Given the description of an element on the screen output the (x, y) to click on. 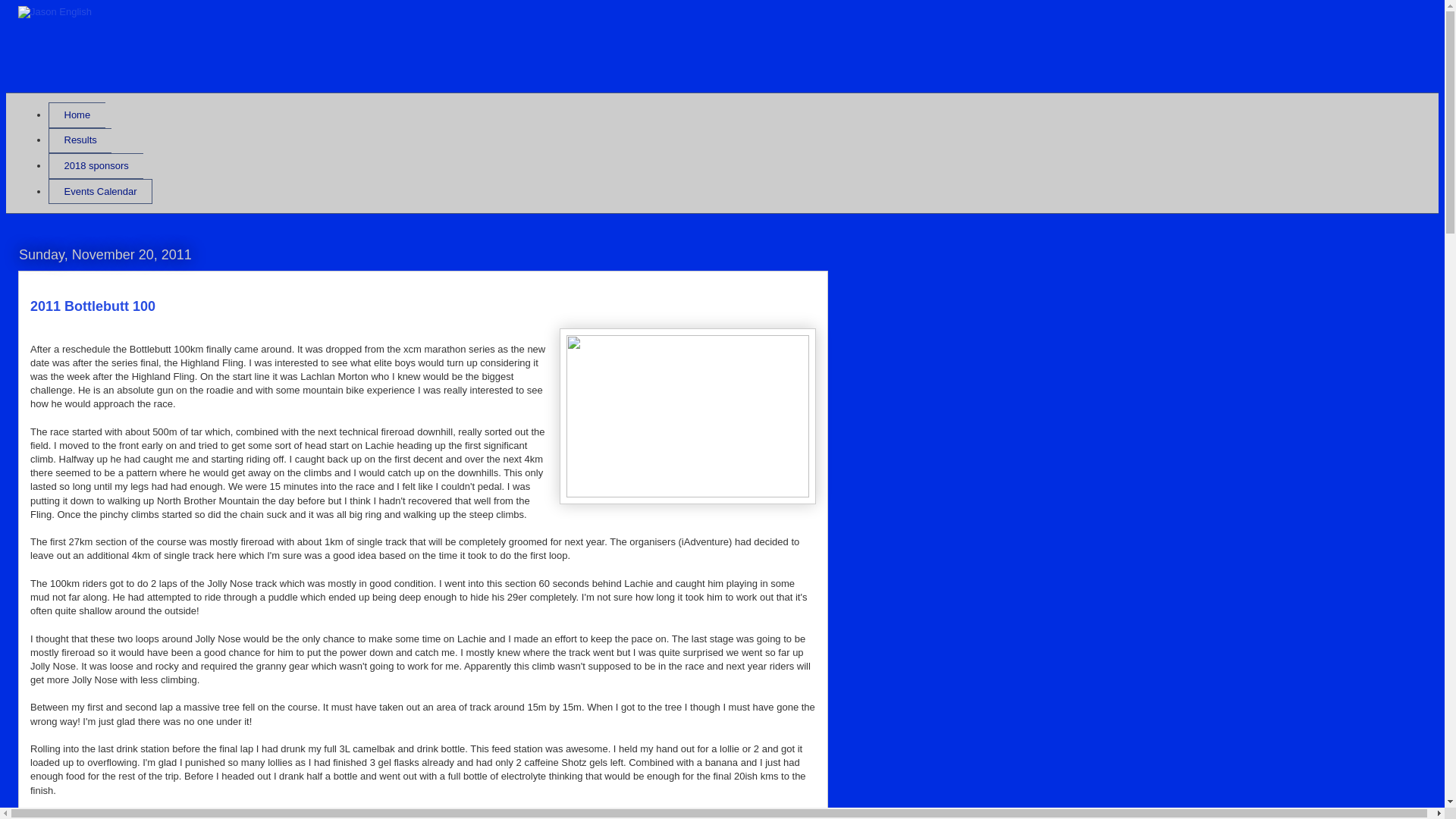
Home (76, 114)
2018 sponsors (95, 166)
Results (80, 140)
Events Calendar (100, 191)
